Given the description of an element on the screen output the (x, y) to click on. 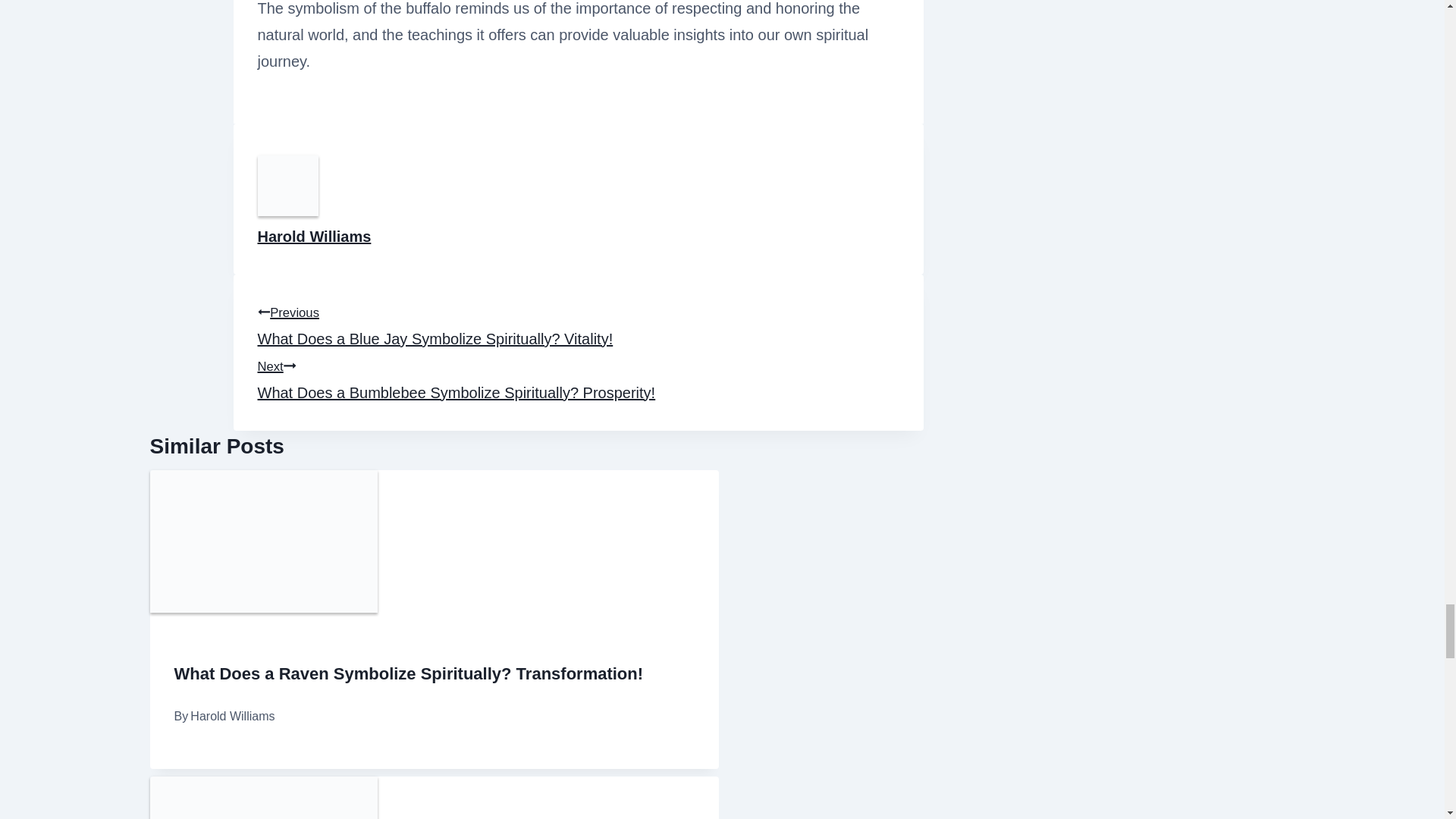
Harold Williams (314, 236)
Posts by Harold Williams (314, 236)
What Does a Raven Symbolize Spiritually? Transformation! (408, 673)
